Given the description of an element on the screen output the (x, y) to click on. 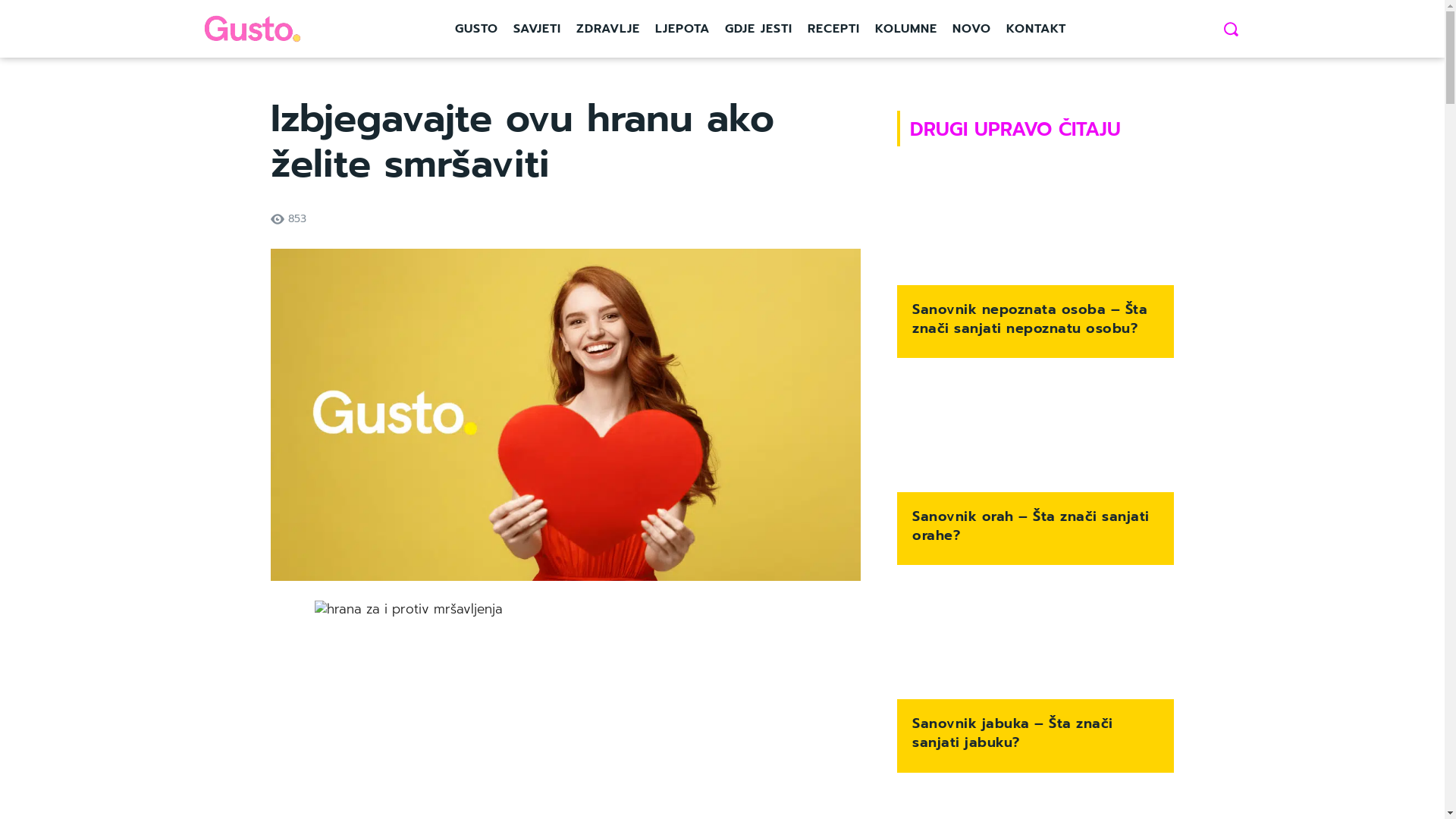
KONTAKT Element type: text (1035, 28)
ZDRAVLJE Element type: text (607, 28)
RECEPTI Element type: text (832, 28)
KOLUMNE Element type: text (905, 28)
SAVJETI Element type: text (536, 28)
GDJE JESTI Element type: text (758, 28)
gusto (6) Element type: hover (564, 414)
GUSTO Element type: text (476, 28)
NOVO Element type: text (971, 28)
LJEPOTA Element type: text (682, 28)
